Given the description of an element on the screen output the (x, y) to click on. 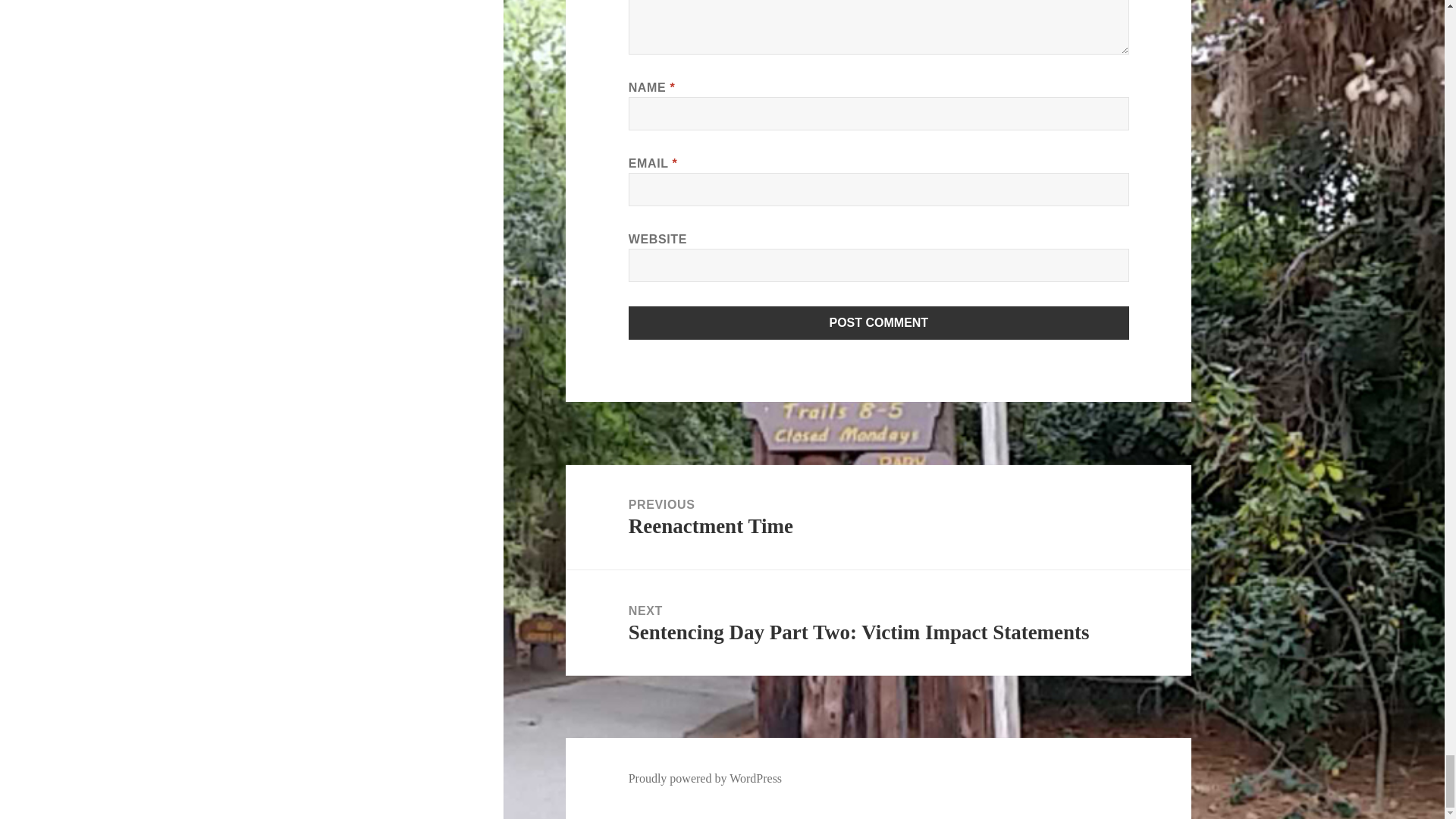
Post Comment (878, 322)
